Given the description of an element on the screen output the (x, y) to click on. 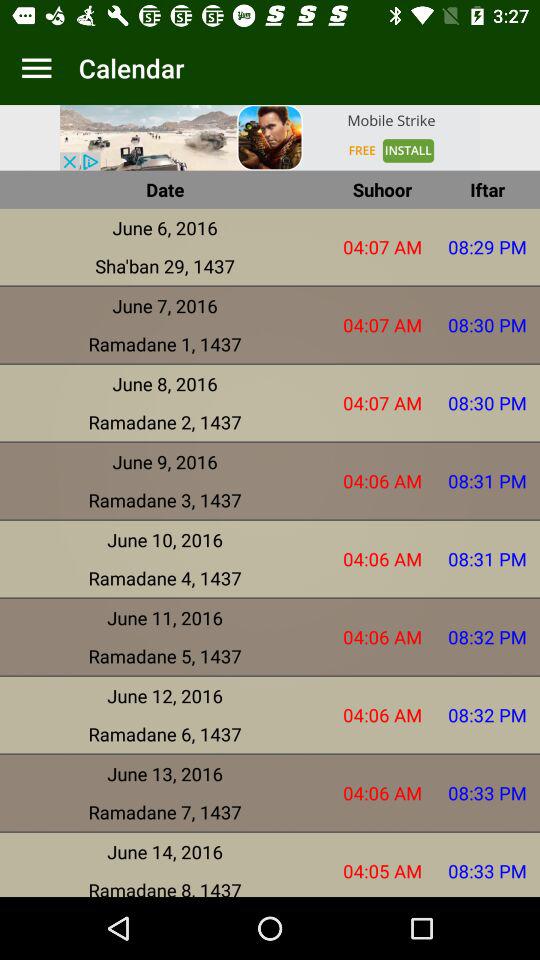
select menu option (36, 68)
